Given the description of an element on the screen output the (x, y) to click on. 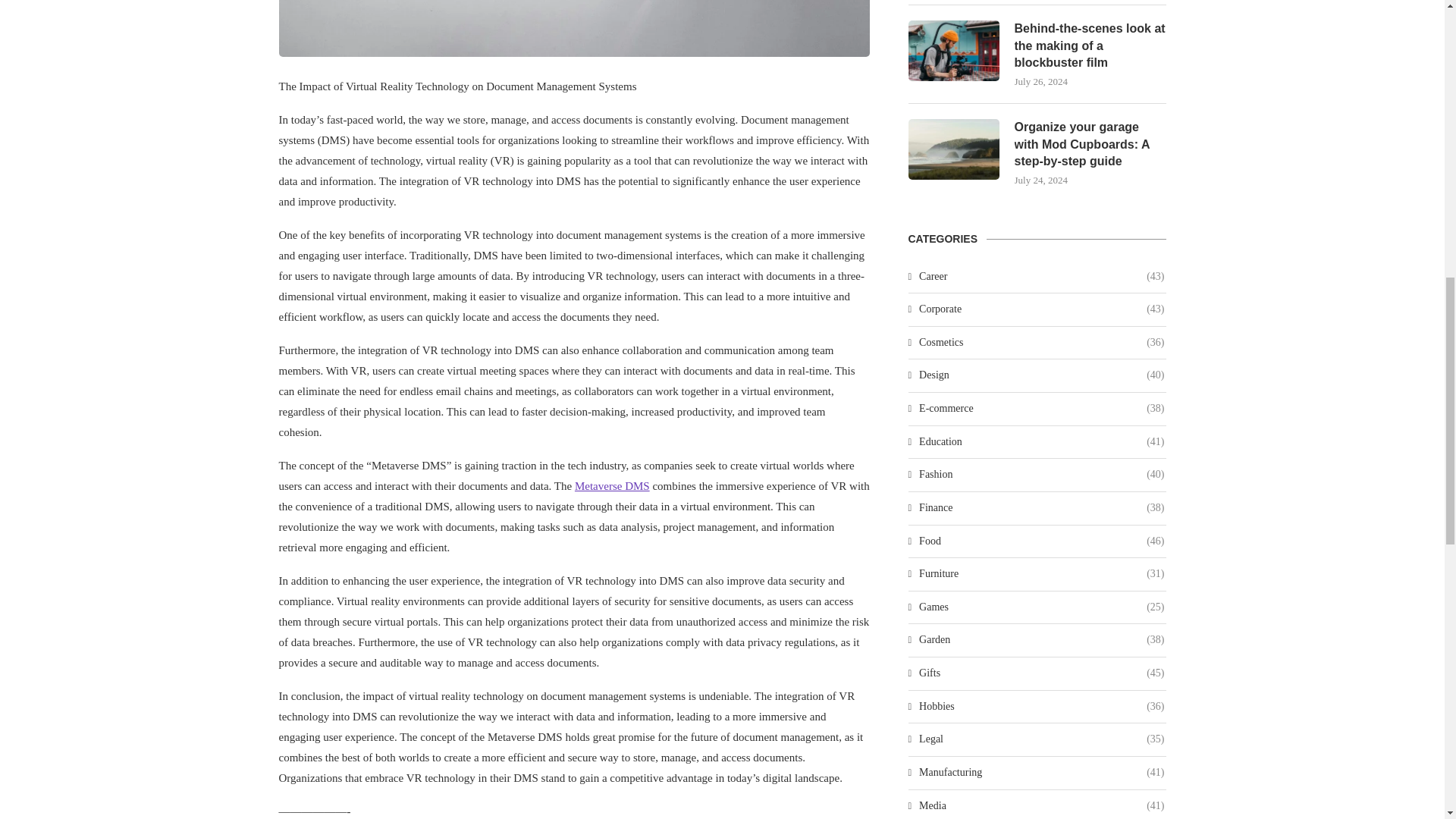
Metaverse DMS (612, 485)
